Given the description of an element on the screen output the (x, y) to click on. 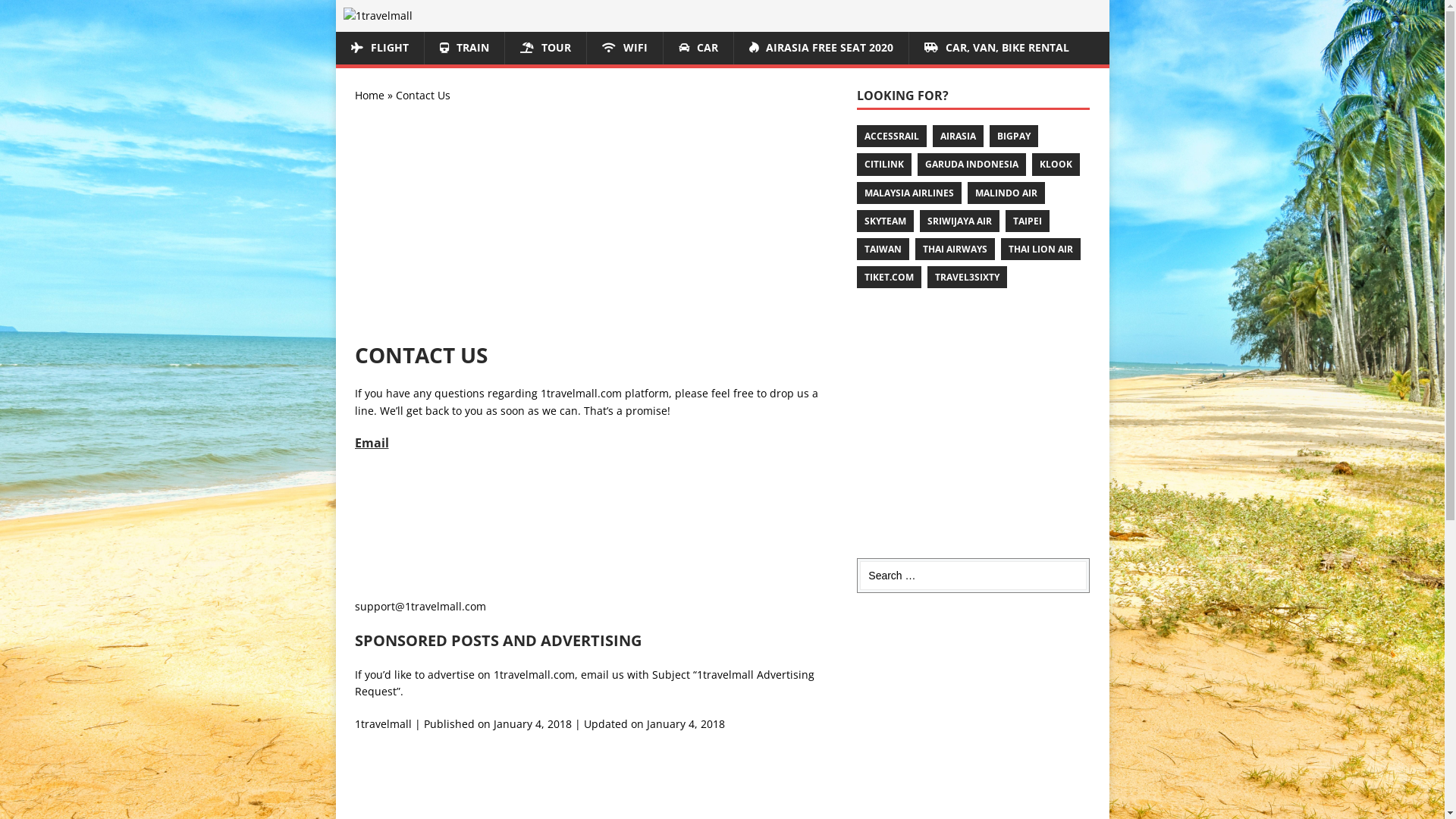
ACCESSRAIL Element type: text (891, 136)
MALAYSIA AIRLINES Element type: text (908, 192)
SKYTEAM Element type: text (884, 221)
TAIWAN Element type: text (882, 249)
1travelmall Element type: text (382, 723)
AIRASIA Element type: text (957, 136)
TRAIN Element type: text (463, 47)
WIFI Element type: text (623, 47)
BIGPAY Element type: text (1013, 136)
Advertisement Element type: hover (972, 426)
FLIGHT Element type: text (379, 47)
Home Element type: text (369, 94)
TRAVEL3SIXTY Element type: text (967, 277)
Advertisement Element type: hover (596, 527)
TAIPEI Element type: text (1027, 221)
KLOOK Element type: text (1055, 164)
AIRASIA FREE SEAT 2020 Element type: text (819, 47)
TIKET.COM Element type: text (888, 277)
CITILINK Element type: text (883, 164)
Advertisement Element type: hover (596, 226)
CAR Element type: text (697, 47)
Search Element type: text (56, 12)
Advertisement Element type: hover (972, 706)
CAR, VAN, BIKE RENTAL Element type: text (996, 47)
THAI AIRWAYS Element type: text (954, 249)
GARUDA INDONESIA Element type: text (971, 164)
SRIWIJAYA AIR Element type: text (959, 221)
MALINDO AIR Element type: text (1005, 192)
TOUR Element type: text (544, 47)
THAI LION AIR Element type: text (1040, 249)
